Given the description of an element on the screen output the (x, y) to click on. 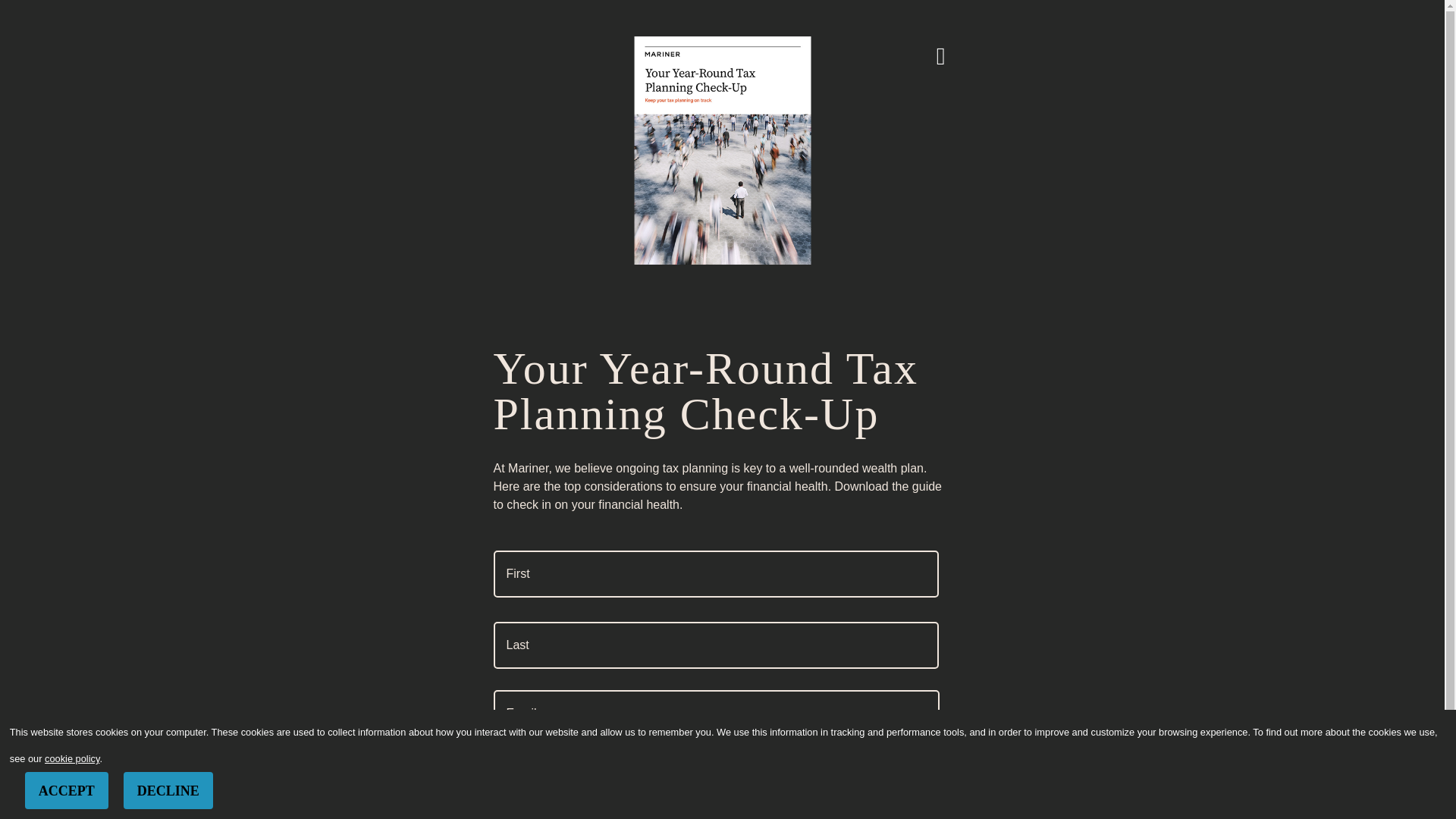
LOCATIONS (1043, 49)
Careers (1203, 9)
INSIGHTS (969, 49)
OUR SERVICES (723, 49)
CALL US: (1362, 9)
Client Login (1140, 9)
CONTACT (1118, 49)
Insights (355, 113)
WHO WE ARE (891, 49)
OUR TEAM (809, 49)
Home (304, 113)
800-384-1756 (1417, 9)
